Given the description of an element on the screen output the (x, y) to click on. 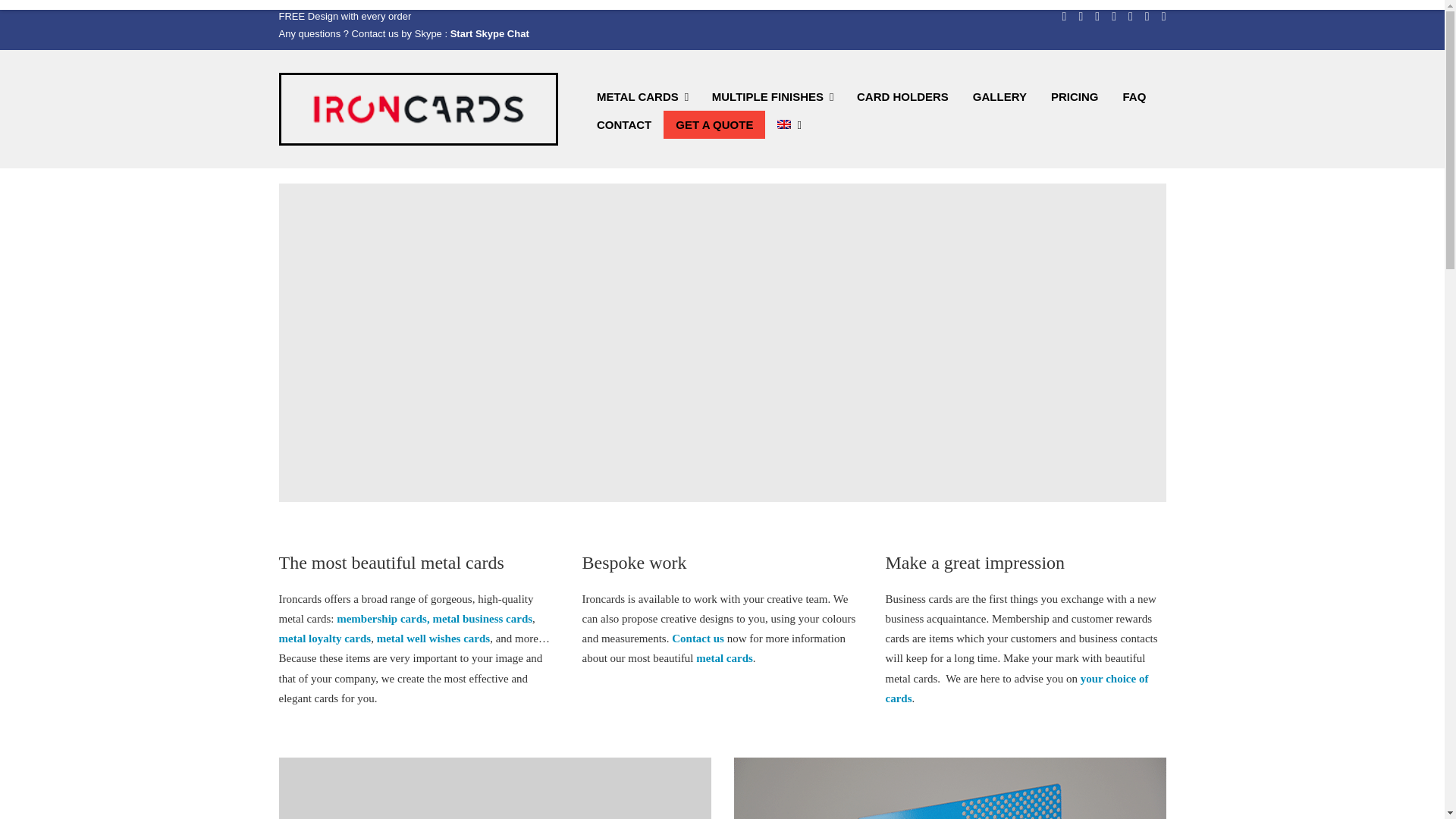
Search (1074, 115)
Request a Quote (1016, 687)
English (783, 123)
metal loyalty cards (325, 638)
Photo gallery: Metal business cards (482, 618)
metal business cards (482, 618)
MULTIPLE FINISHES (767, 96)
membership cards, (382, 618)
CONTACT (624, 124)
Membership Card (382, 618)
